Given the description of an element on the screen output the (x, y) to click on. 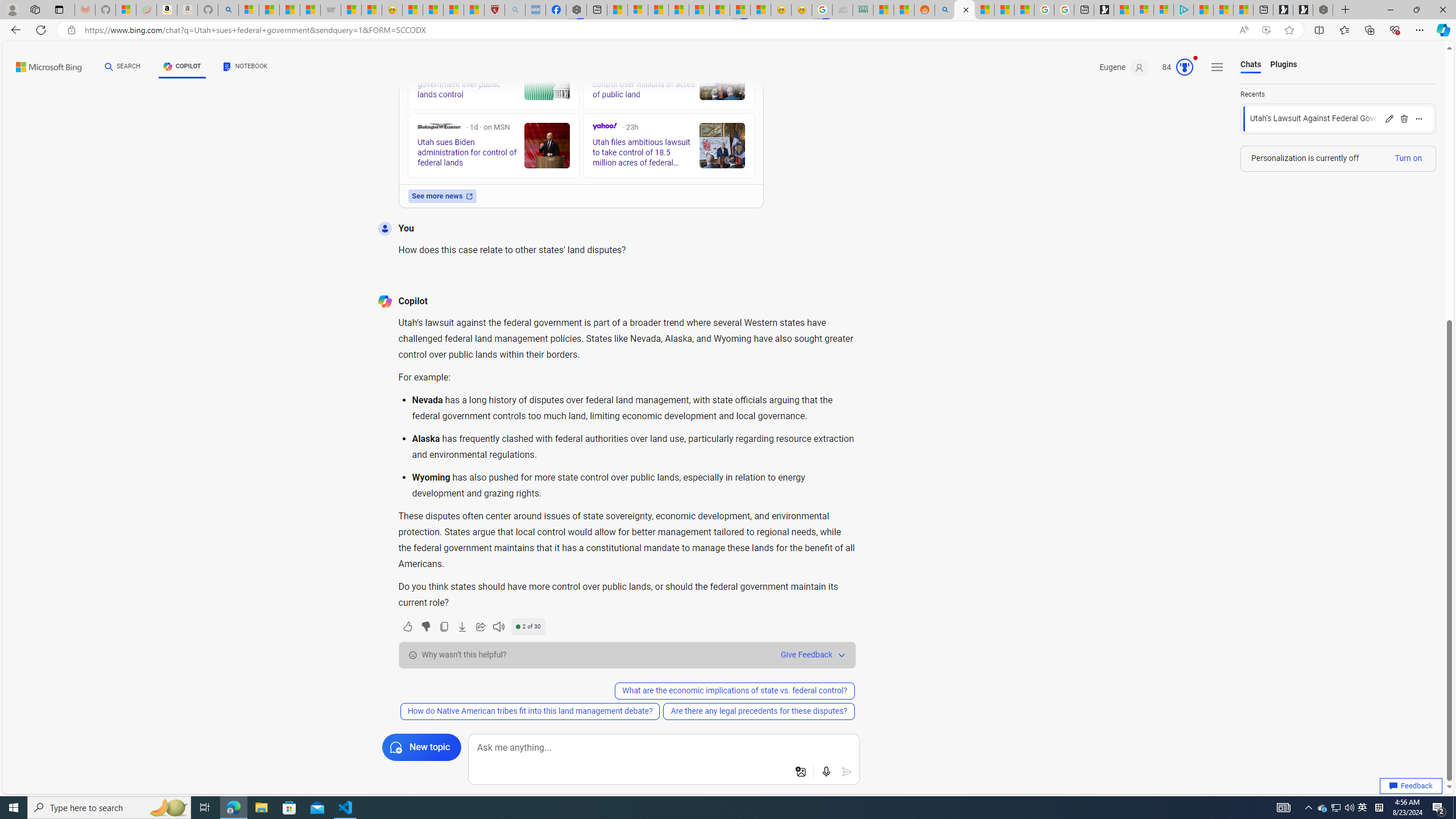
See more news (441, 196)
SEARCH (122, 66)
